Given the description of an element on the screen output the (x, y) to click on. 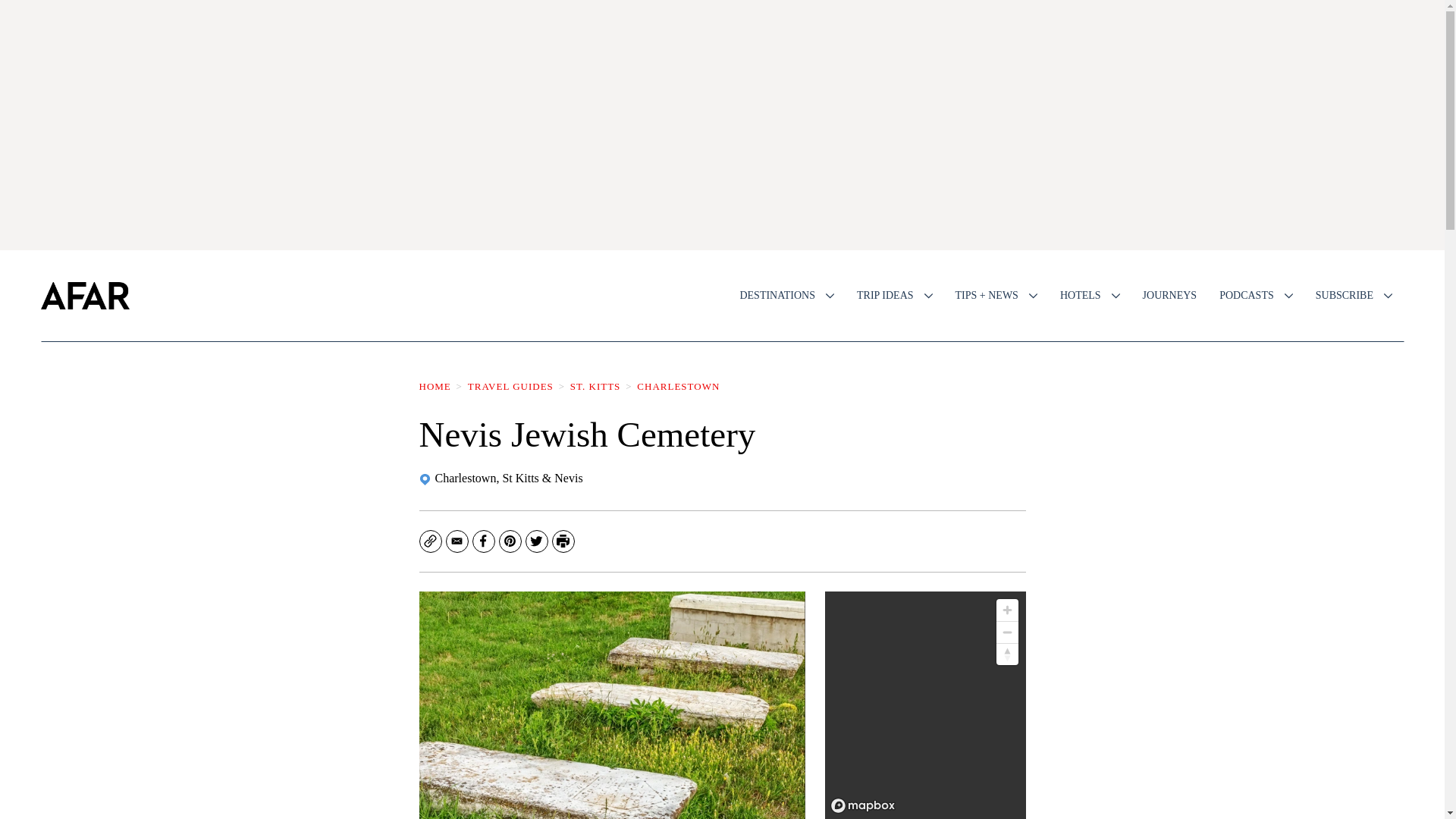
Zoom out (1006, 631)
Zoom in (1006, 609)
Reset bearing to north (1006, 654)
